Given the description of an element on the screen output the (x, y) to click on. 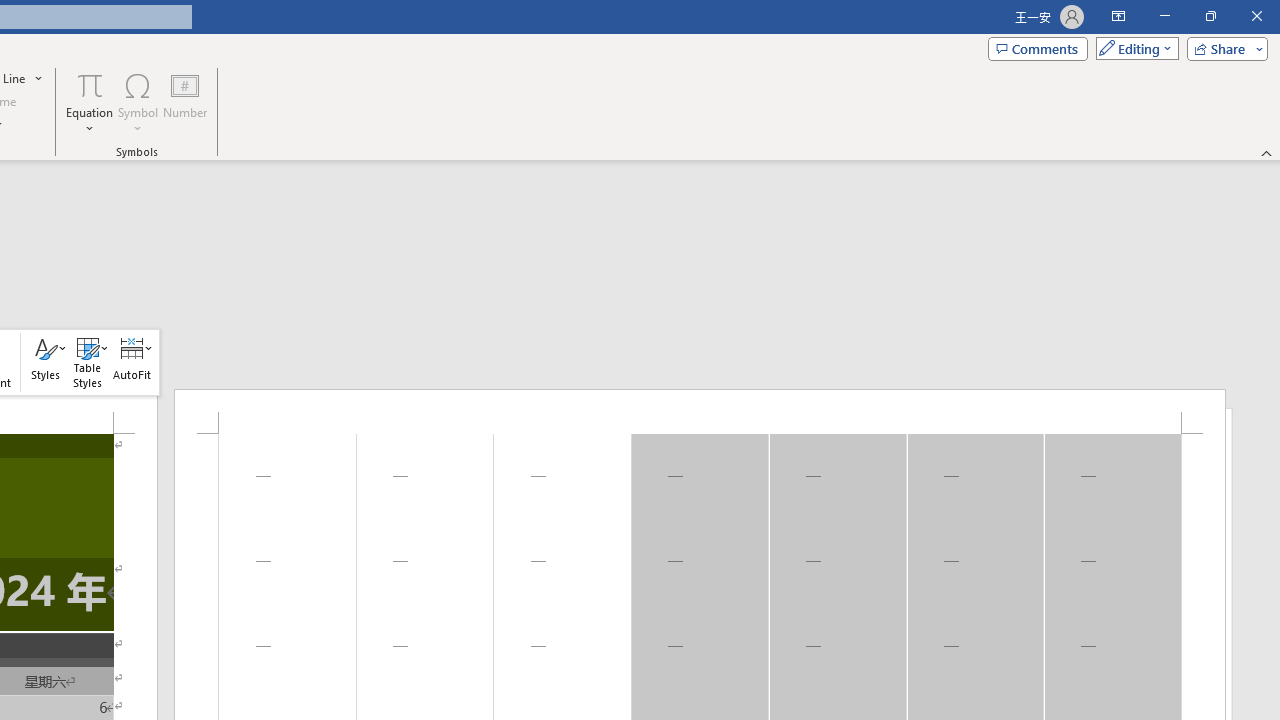
Equation (90, 102)
Class: NetUIAnchor (132, 361)
Equation (90, 84)
Number... (185, 102)
Symbol (138, 102)
